Given the description of an element on the screen output the (x, y) to click on. 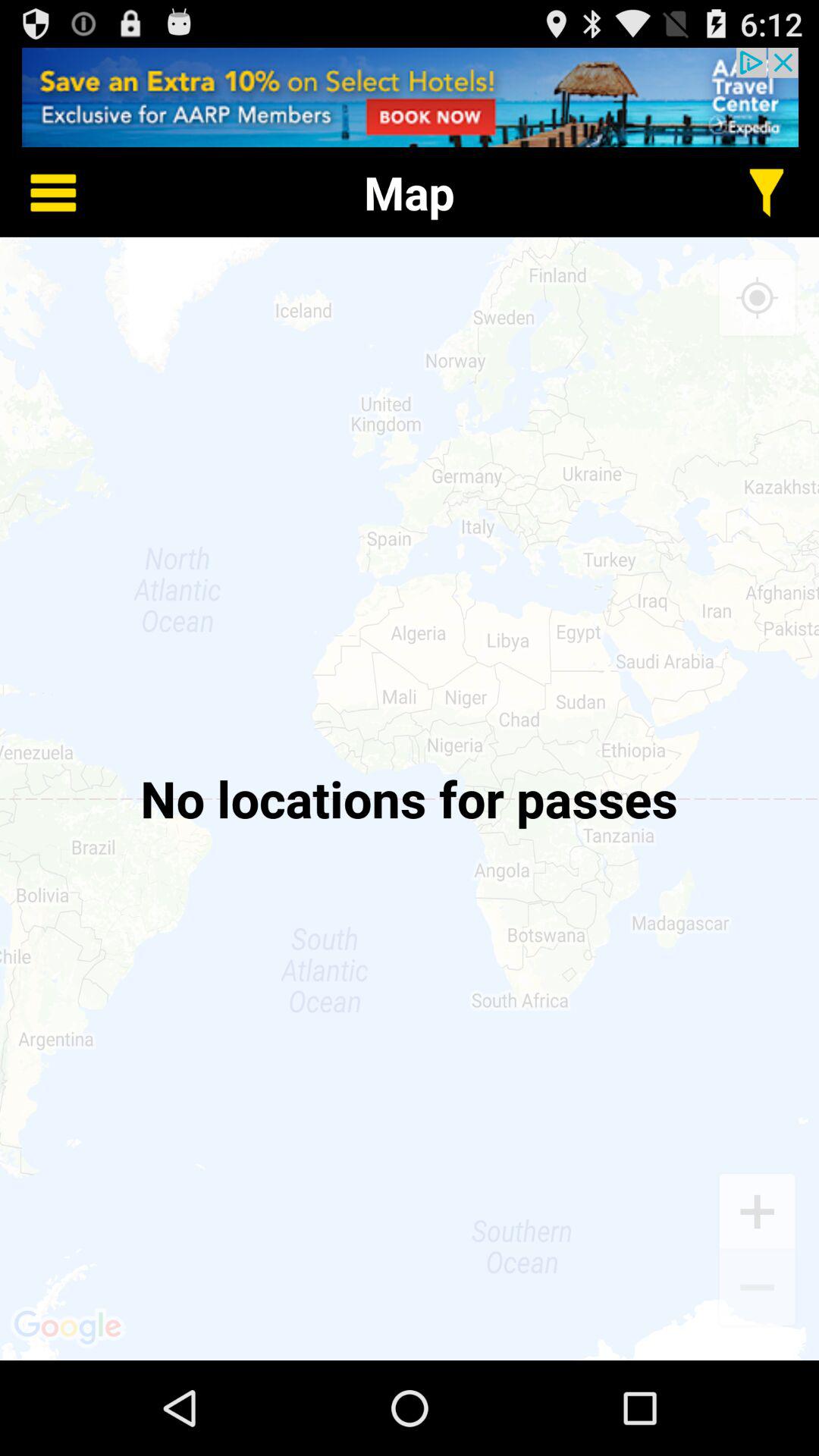
menu list (42, 192)
